Given the description of an element on the screen output the (x, y) to click on. 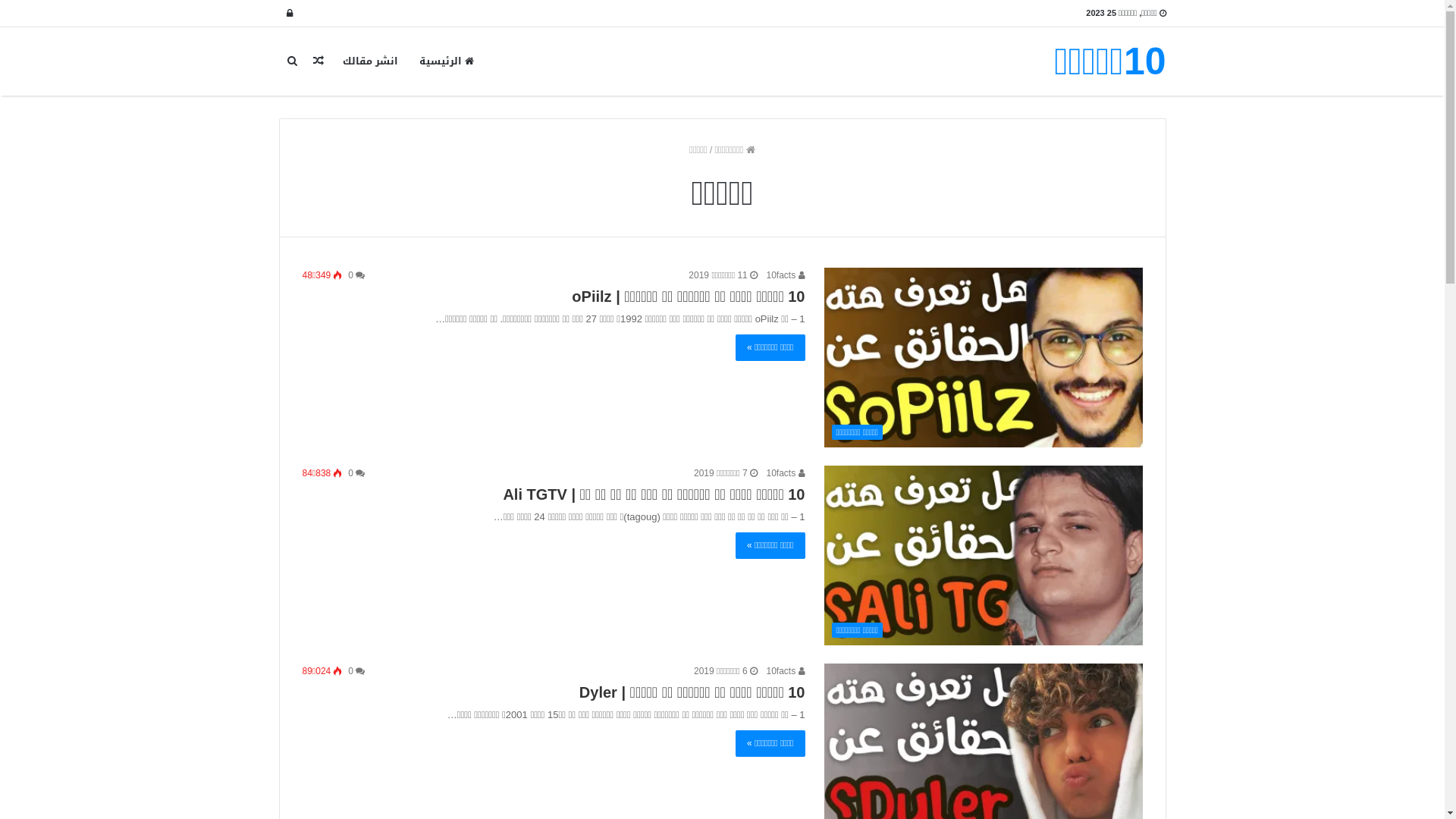
10facts Element type: text (784, 472)
0 Element type: text (356, 472)
0 Element type: text (356, 670)
10facts Element type: text (784, 274)
0 Element type: text (356, 274)
10facts Element type: text (784, 670)
